Given the description of an element on the screen output the (x, y) to click on. 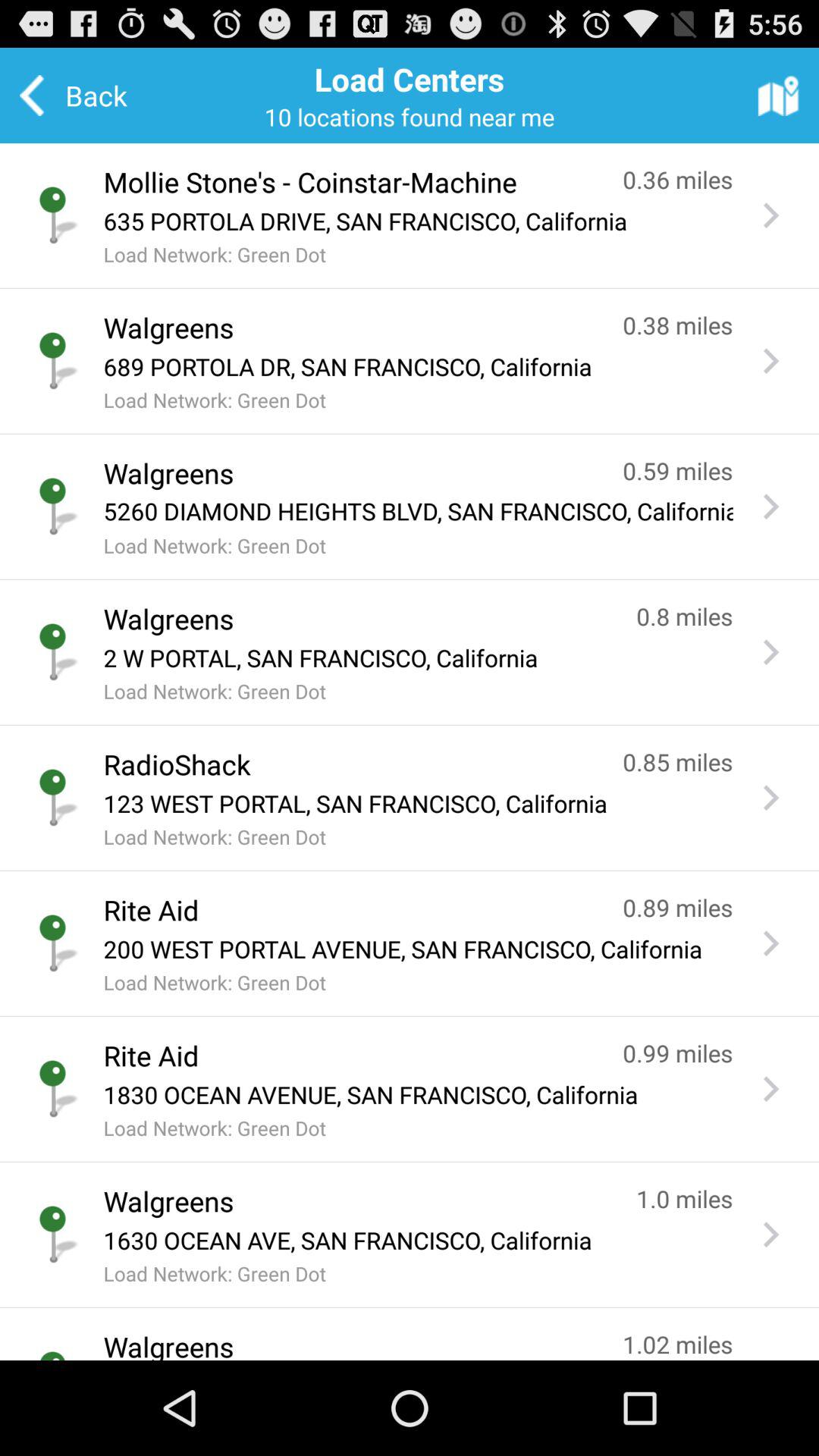
select item next to 0.85 miles app (347, 764)
